Given the description of an element on the screen output the (x, y) to click on. 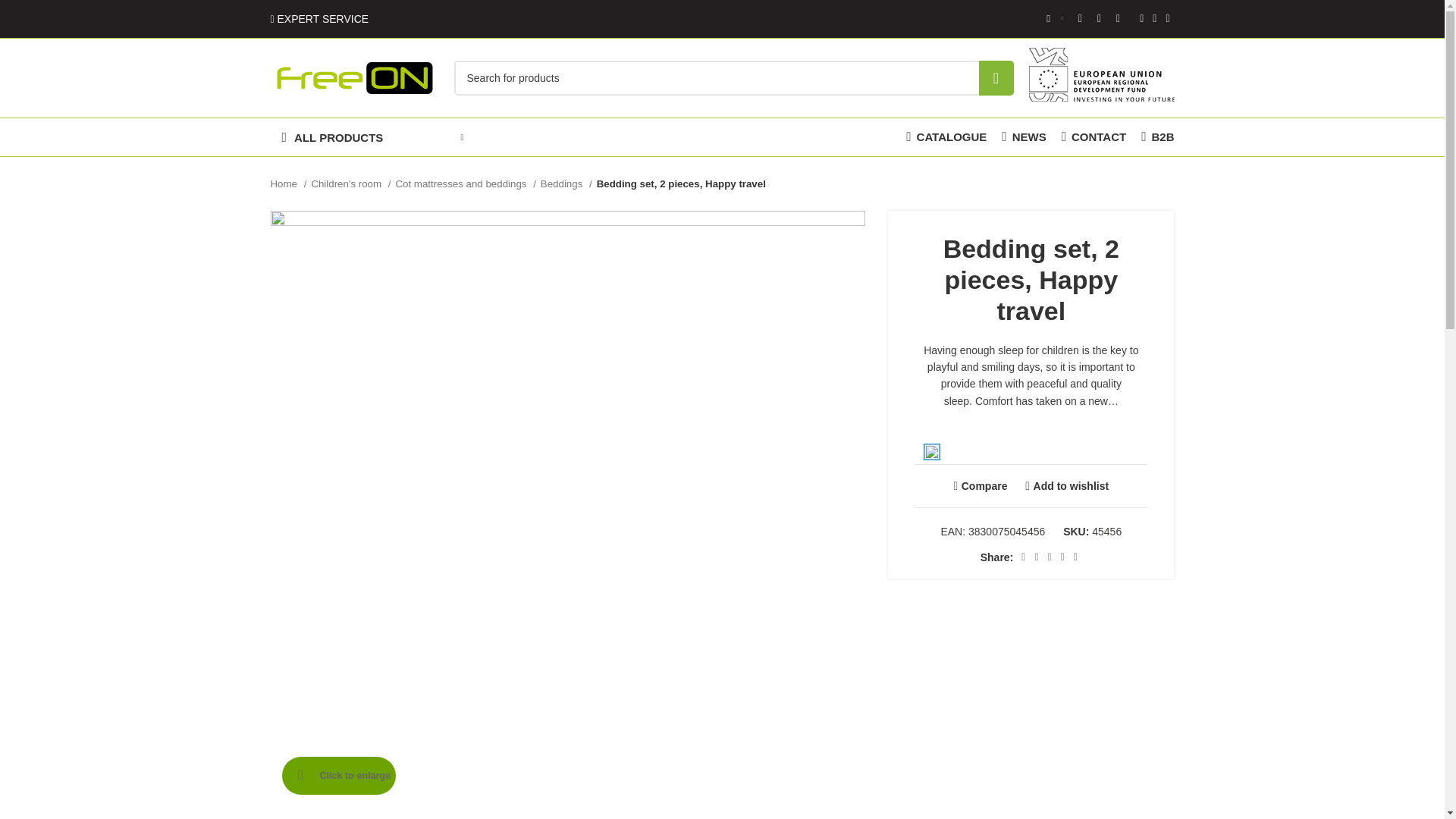
Search for products (732, 77)
SEARCH (995, 77)
logo unija (1100, 73)
